Given the description of an element on the screen output the (x, y) to click on. 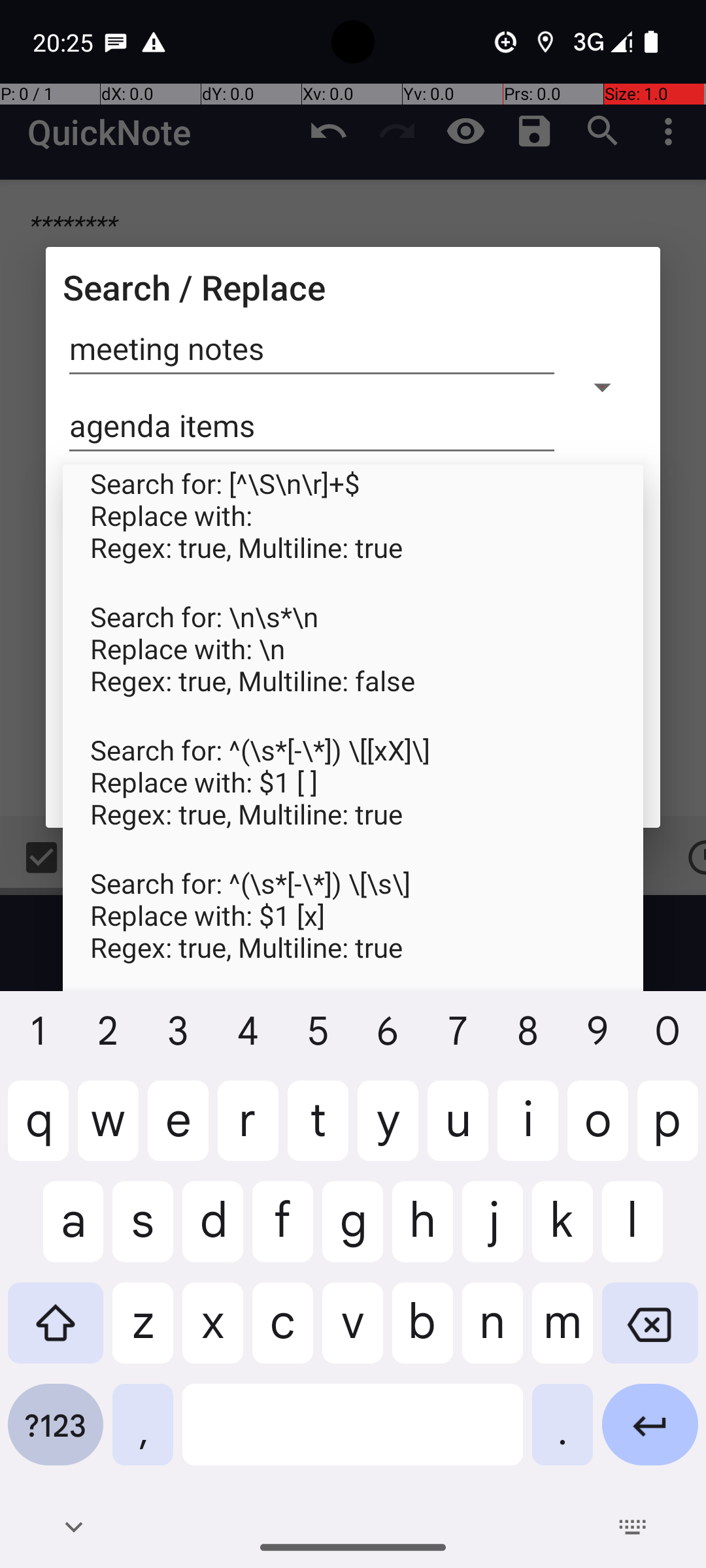
Search for: [^\S\n\r]+$
Replace with: 
Regex: true, Multiline: true
 Element type: android.widget.TextView (352, 530)
Search for: \n\s*\n
Replace with: \n
Regex: true, Multiline: false
 Element type: android.widget.TextView (352, 664)
Search for: ^(\s*[-\*]) \[[xX]\]
Replace with: $1 [ ]
Regex: true, Multiline: true
 Element type: android.widget.TextView (352, 797)
Search for: ^(\s*[-\*]) \[\s\]
Replace with: $1 [x]
Regex: true, Multiline: true
 Element type: android.widget.TextView (352, 930)
20:25 Element type: android.widget.TextView (64, 41)
